Given the description of an element on the screen output the (x, y) to click on. 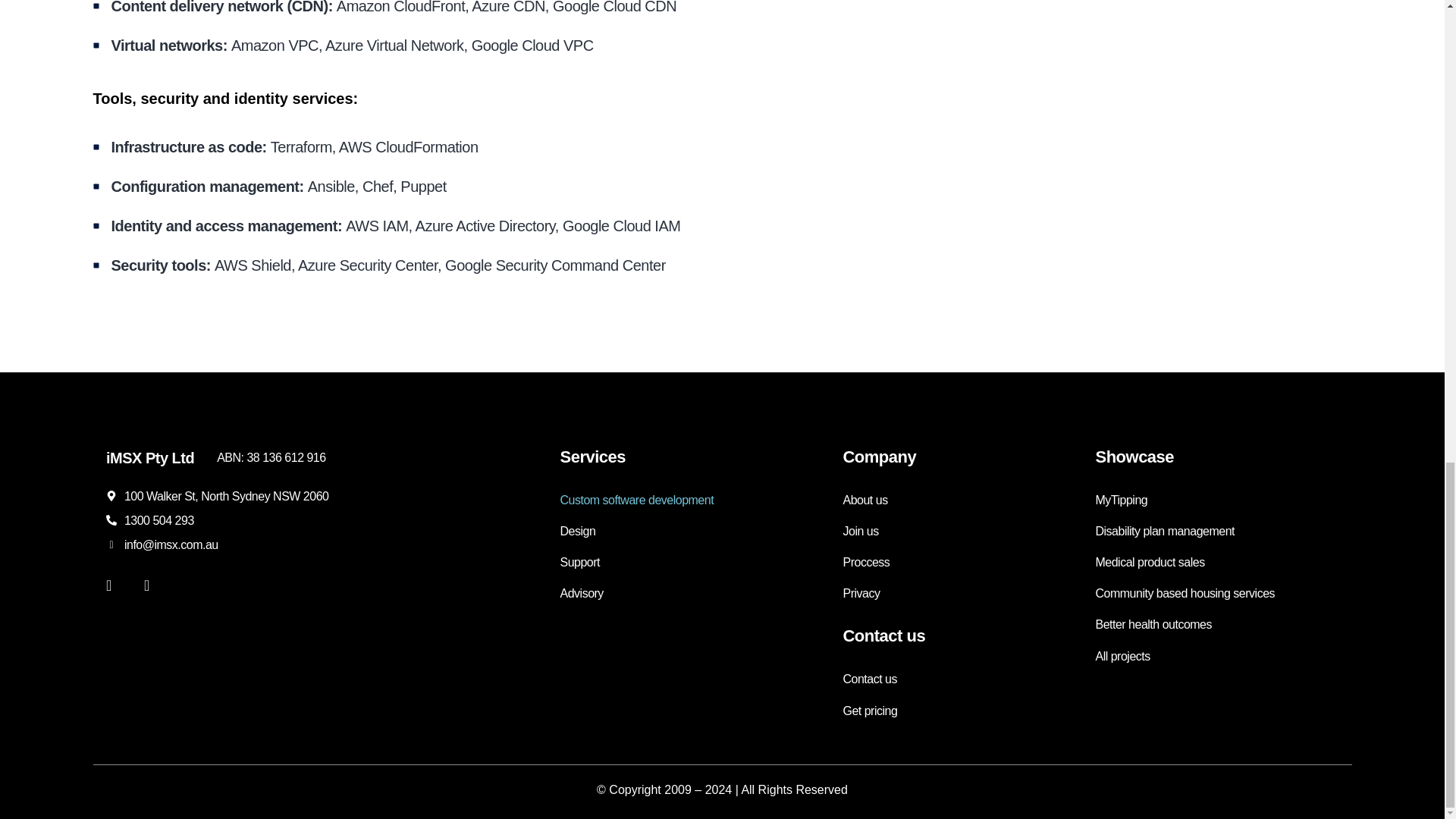
iMSX Pty Ltd (149, 457)
1300 504 293 (158, 520)
